Given the description of an element on the screen output the (x, y) to click on. 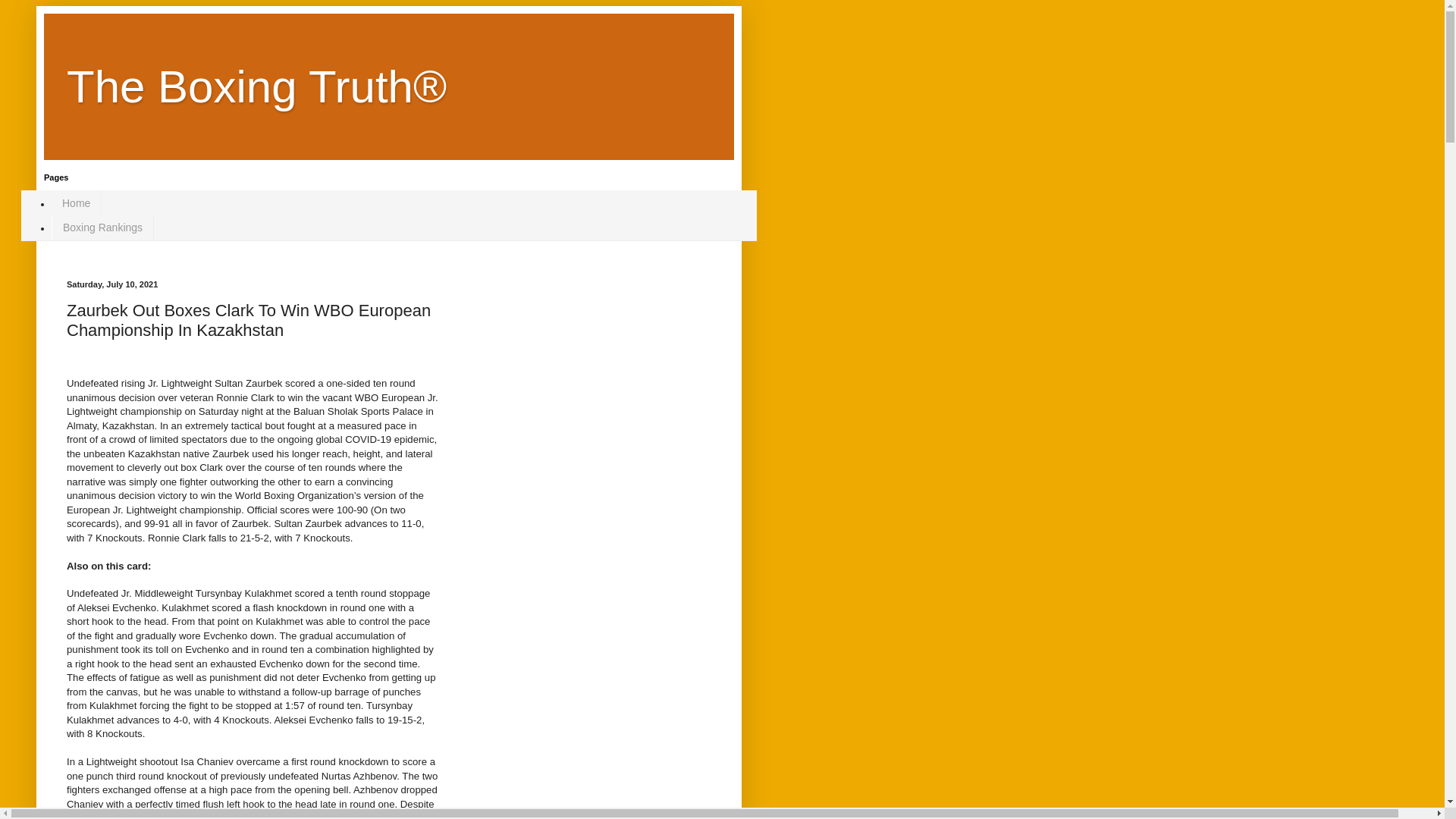
Home (75, 202)
Boxing Rankings (102, 227)
